Given the description of an element on the screen output the (x, y) to click on. 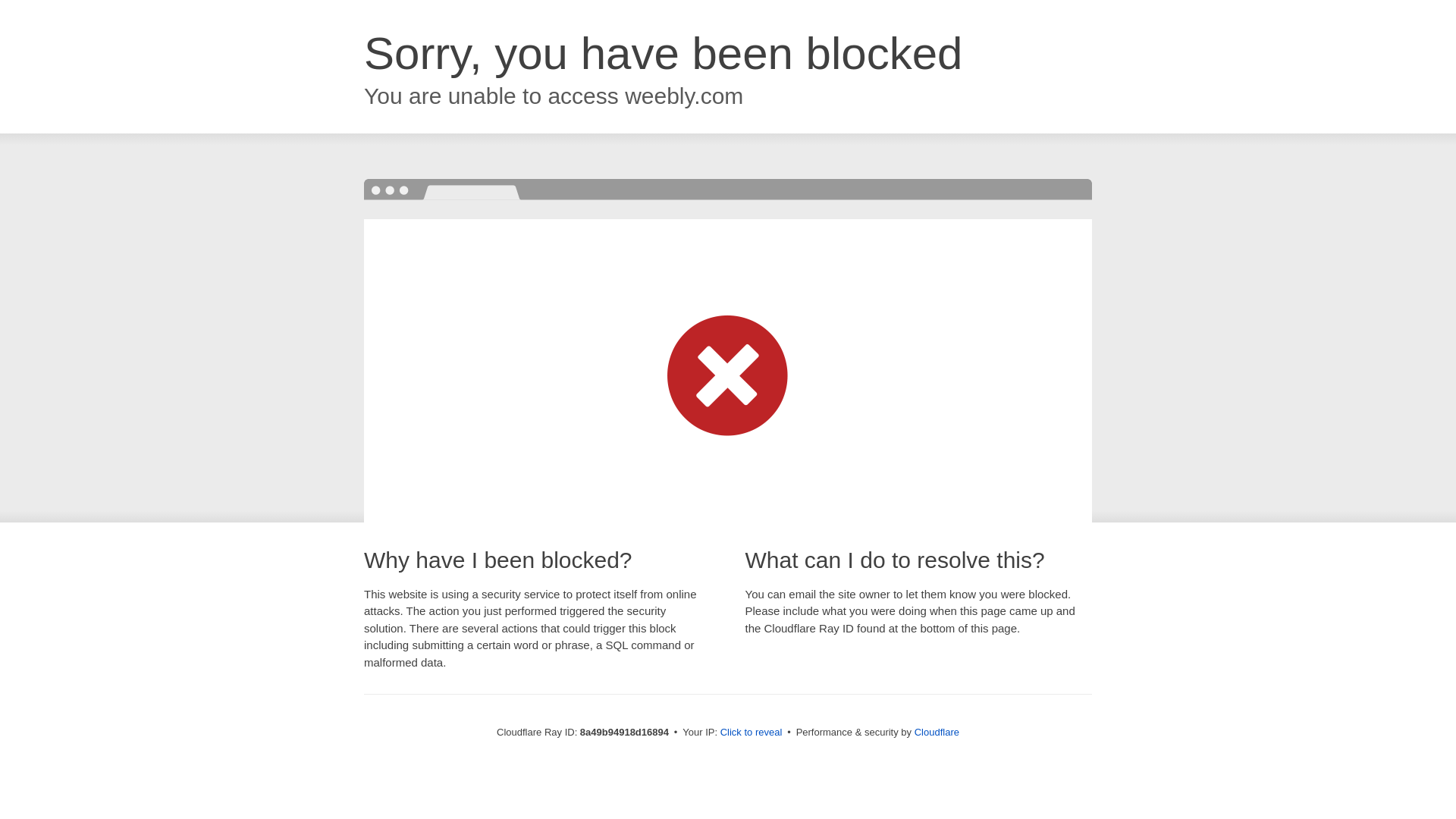
Cloudflare (936, 731)
Click to reveal (751, 732)
